Given the description of an element on the screen output the (x, y) to click on. 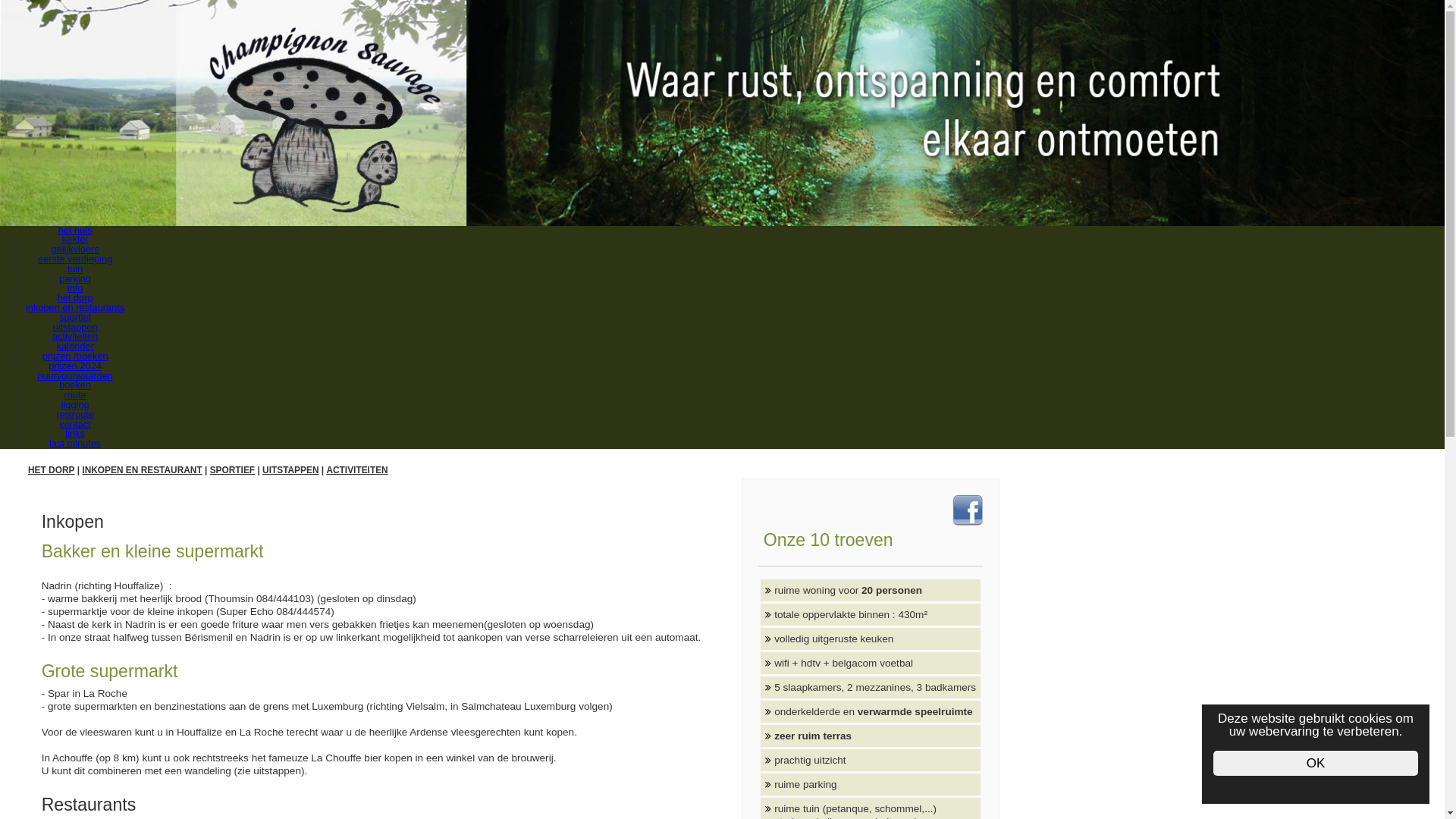
eerste verdieping Element type: text (74, 258)
sportief Element type: text (75, 317)
OK Element type: text (1315, 762)
boeken Element type: text (75, 384)
activiteiten Element type: text (74, 336)
last minutes Element type: text (74, 442)
prijzen /boeken Element type: text (75, 355)
links Element type: text (74, 433)
UITSTAPPEN Element type: text (290, 469)
parking Element type: text (75, 278)
kelder Element type: text (75, 238)
huurvoorwaarden Element type: text (74, 375)
het dorp Element type: text (75, 297)
tuin Element type: text (75, 268)
reisroute Element type: text (75, 414)
INKOPEN EN RESTAURANT Element type: text (141, 469)
kalender Element type: text (75, 345)
route Element type: text (75, 394)
het huis Element type: text (75, 229)
inkopen en restaurants Element type: text (74, 307)
HET DORP Element type: text (51, 469)
gelijkvloers Element type: text (74, 248)
prijzen 2024 Element type: text (74, 365)
ACTIVITEITEN Element type: text (356, 469)
ligging Element type: text (75, 404)
SPORTIEF Element type: text (232, 469)
info Element type: text (75, 287)
contact Element type: text (74, 423)
uitstappen Element type: text (75, 326)
